Given the description of an element on the screen output the (x, y) to click on. 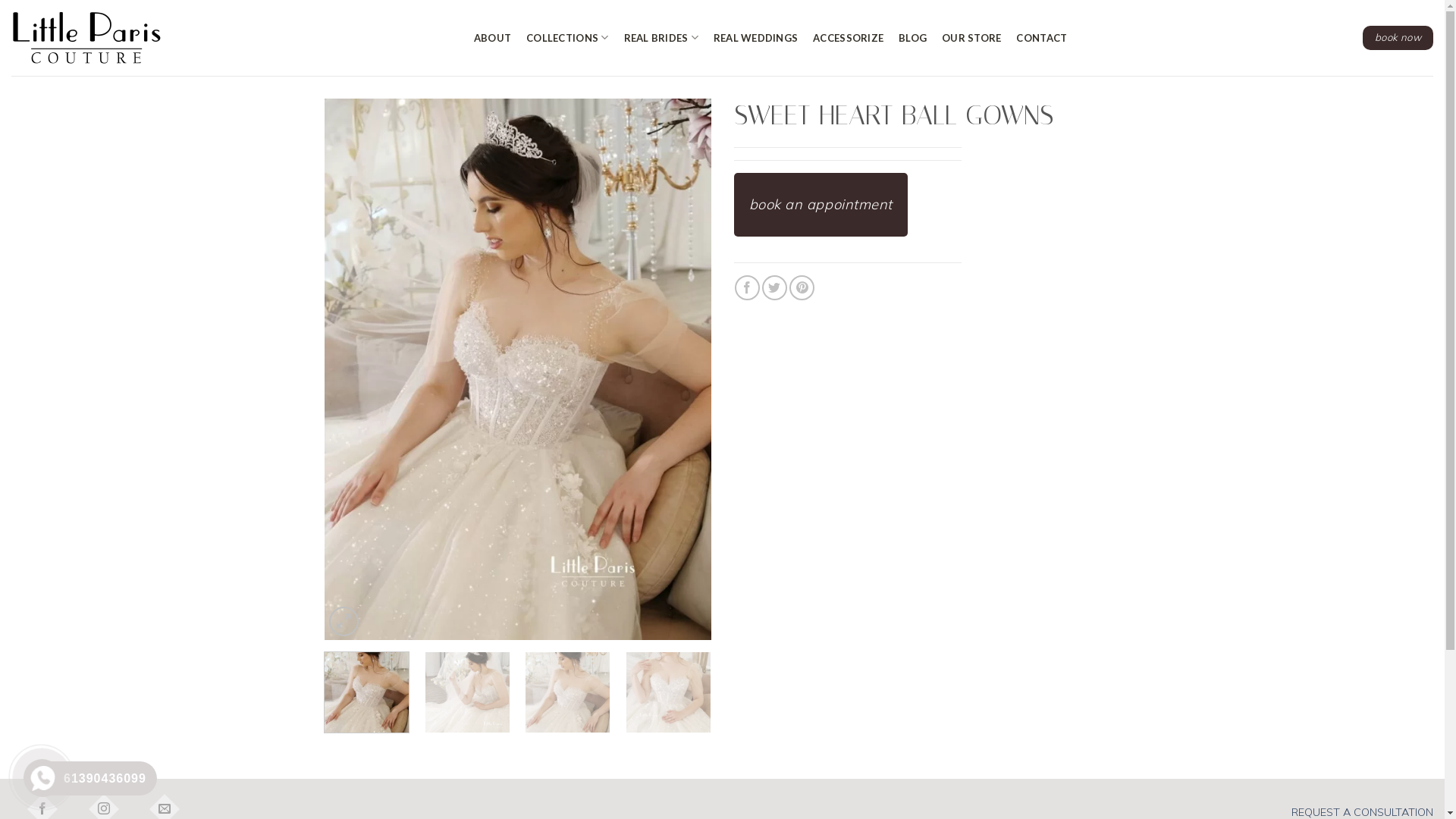
book now Element type: text (1397, 37)
ABOUT Element type: text (495, 37)
61390436099 Element type: text (94, 778)
REAL BRIDES Element type: text (664, 37)
book an appointment Element type: text (821, 204)
Share on Facebook Element type: hover (746, 287)
REAL WEDDINGS Element type: text (759, 37)
OUR STORE Element type: text (974, 37)
Pin on Pinterest Element type: hover (801, 287)
CONTACT Element type: text (1045, 37)
ACCESSORIZE Element type: text (851, 37)
COLLECTIONS Element type: text (570, 37)
IMG_1597 Element type: hover (517, 369)
Zoom Element type: hover (343, 621)
Share on Twitter Element type: hover (774, 287)
BLOG Element type: text (916, 37)
